Given the description of an element on the screen output the (x, y) to click on. 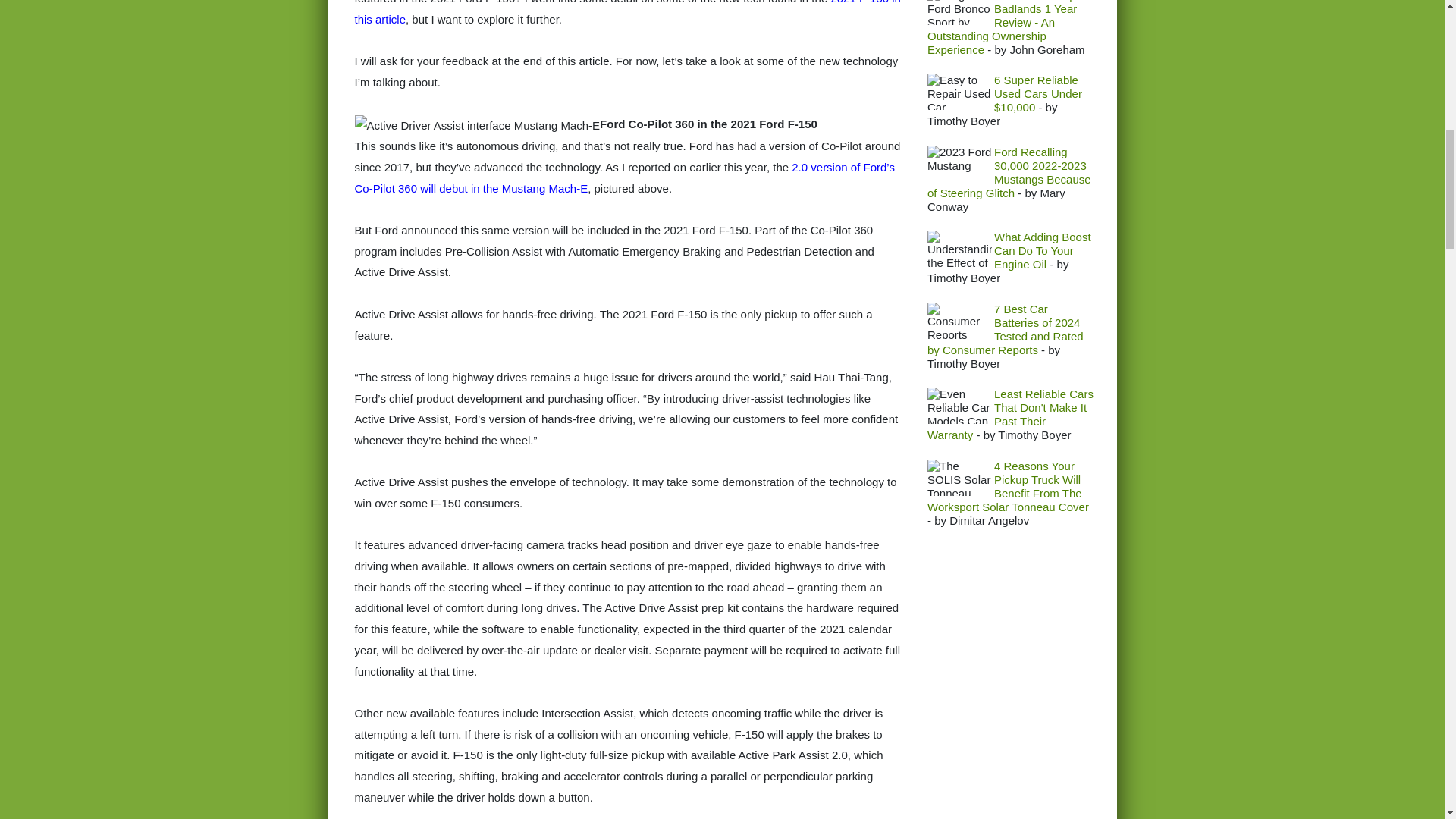
2021 F-150 in this article (628, 12)
